Given the description of an element on the screen output the (x, y) to click on. 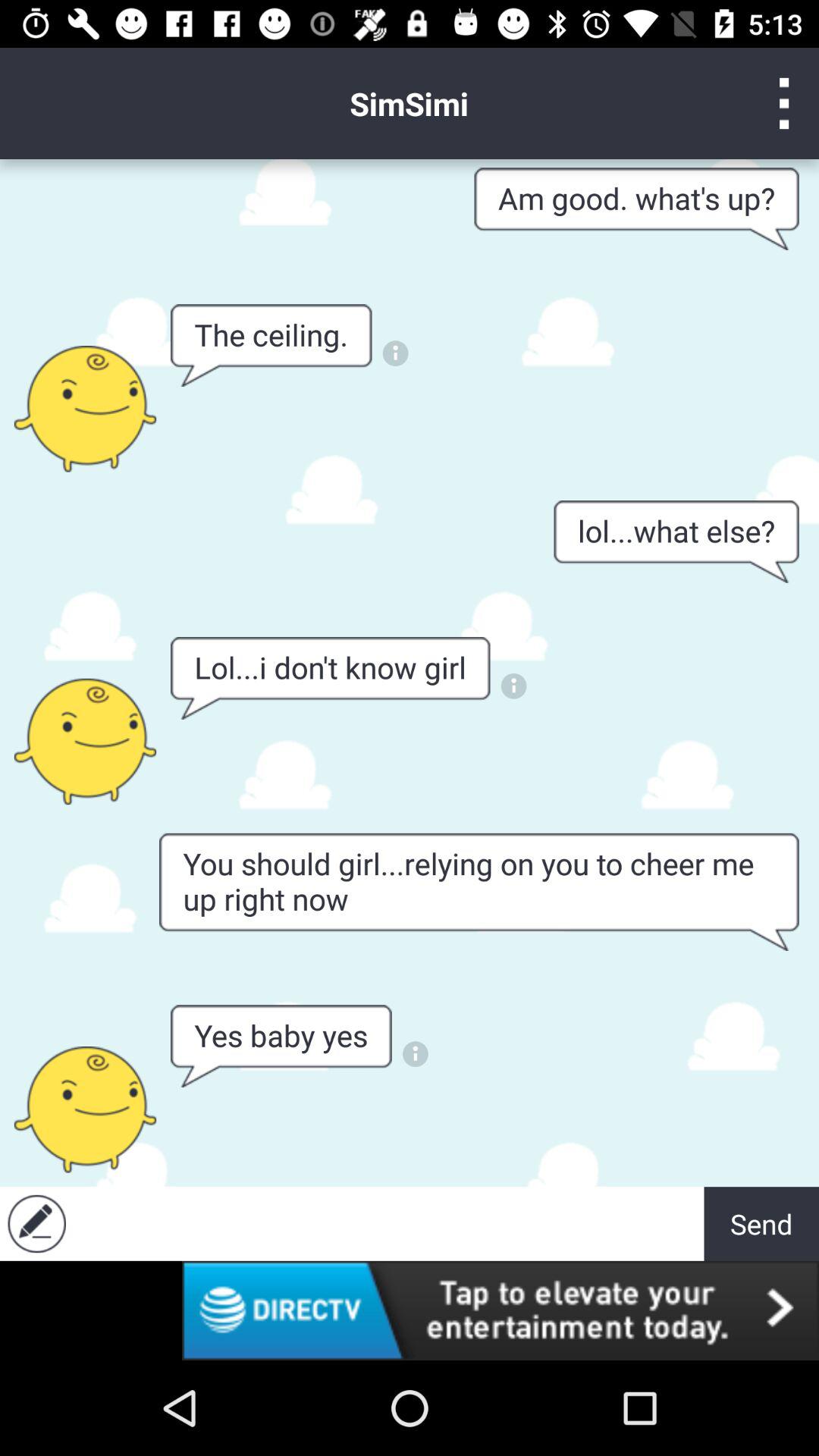
click to the more information (395, 353)
